Given the description of an element on the screen output the (x, y) to click on. 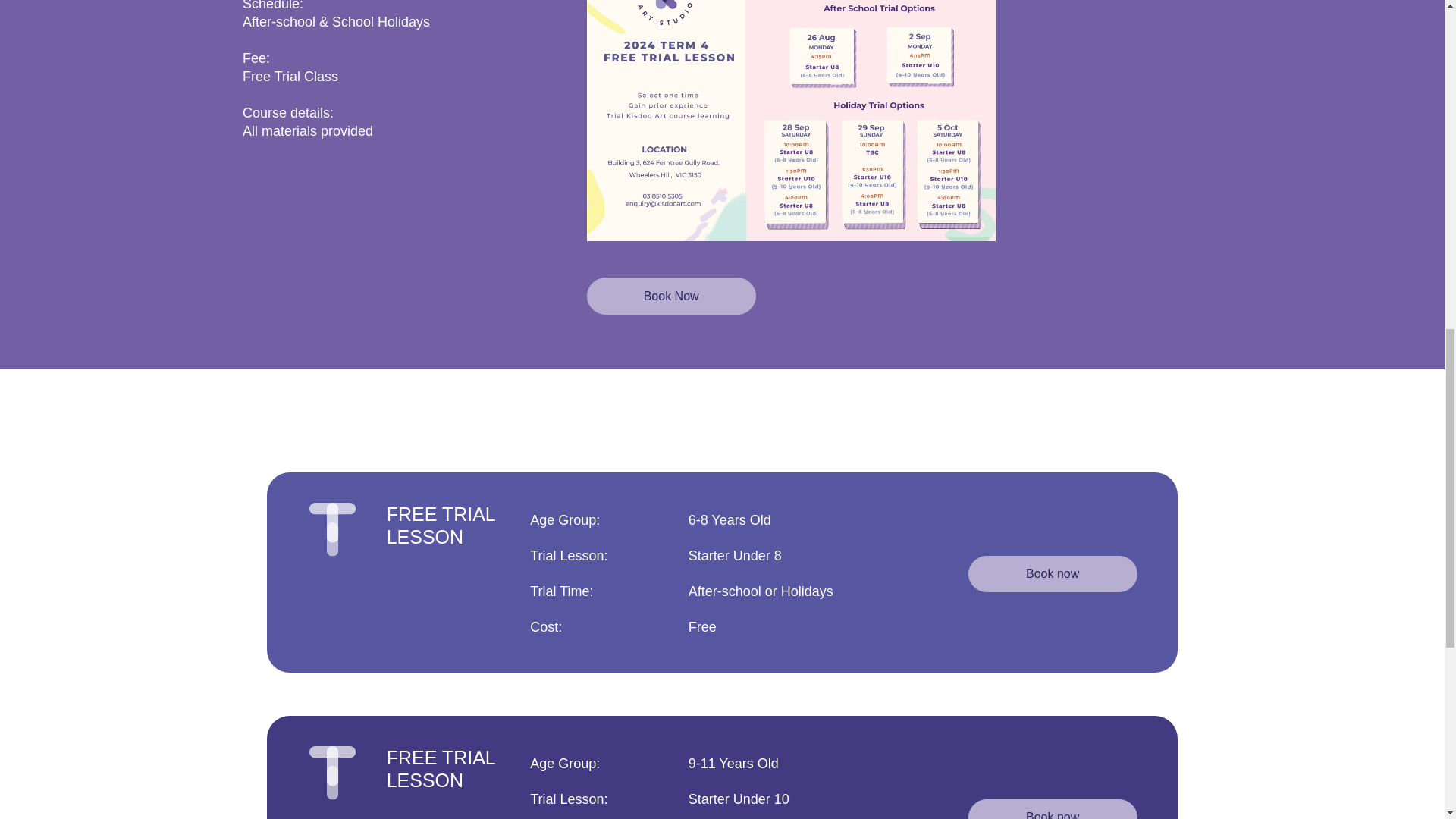
Book Now (670, 295)
Book now (1052, 574)
Book now (1052, 809)
